Given the description of an element on the screen output the (x, y) to click on. 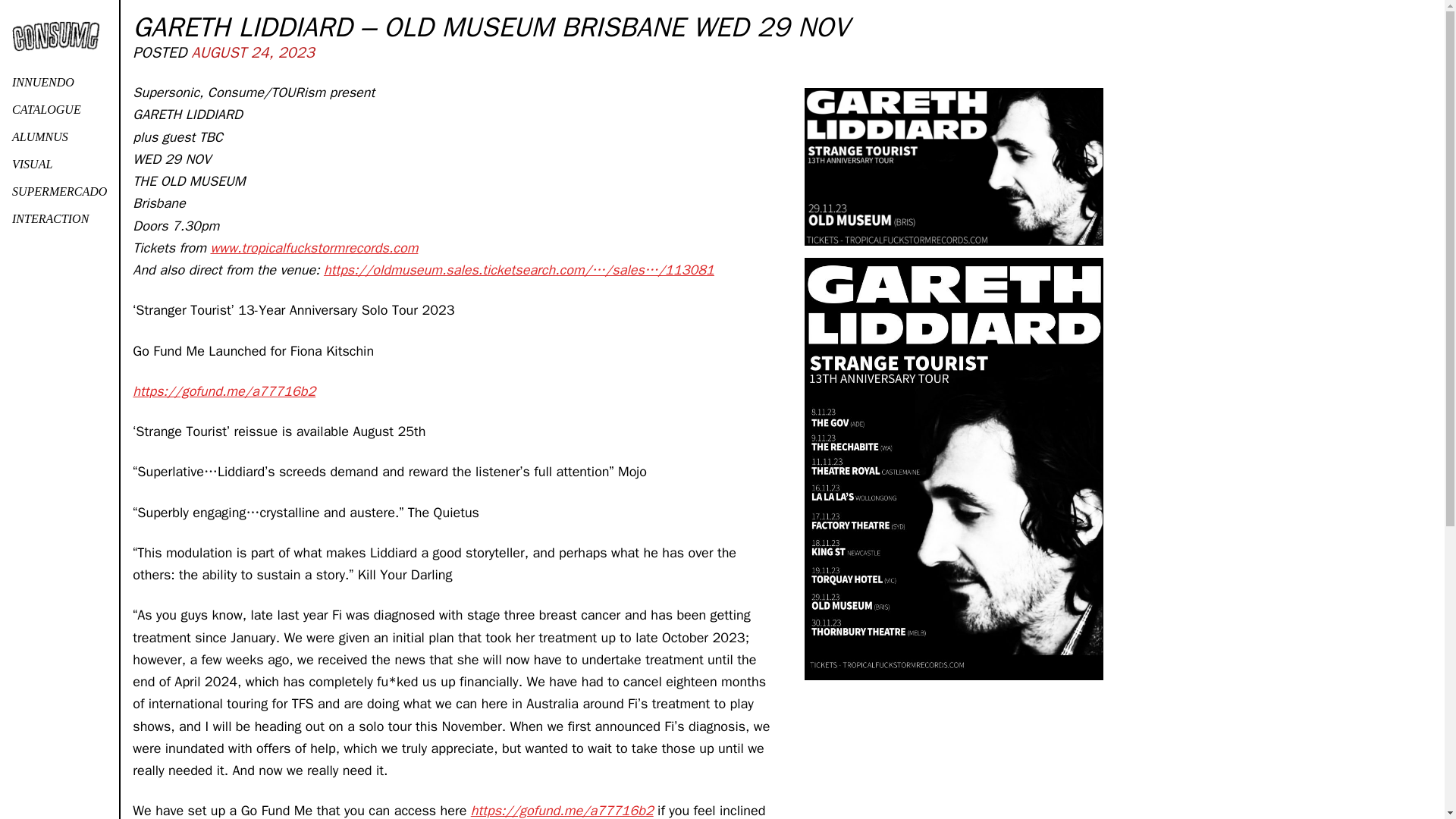
ALUMNUS (59, 136)
INTERACTION (59, 218)
VISUAL (59, 164)
www.tropicalfuckstormrecords.com (313, 247)
INNUENDO (59, 82)
SUPERMERCADO (59, 191)
CATALOGUE (59, 109)
